Given the description of an element on the screen output the (x, y) to click on. 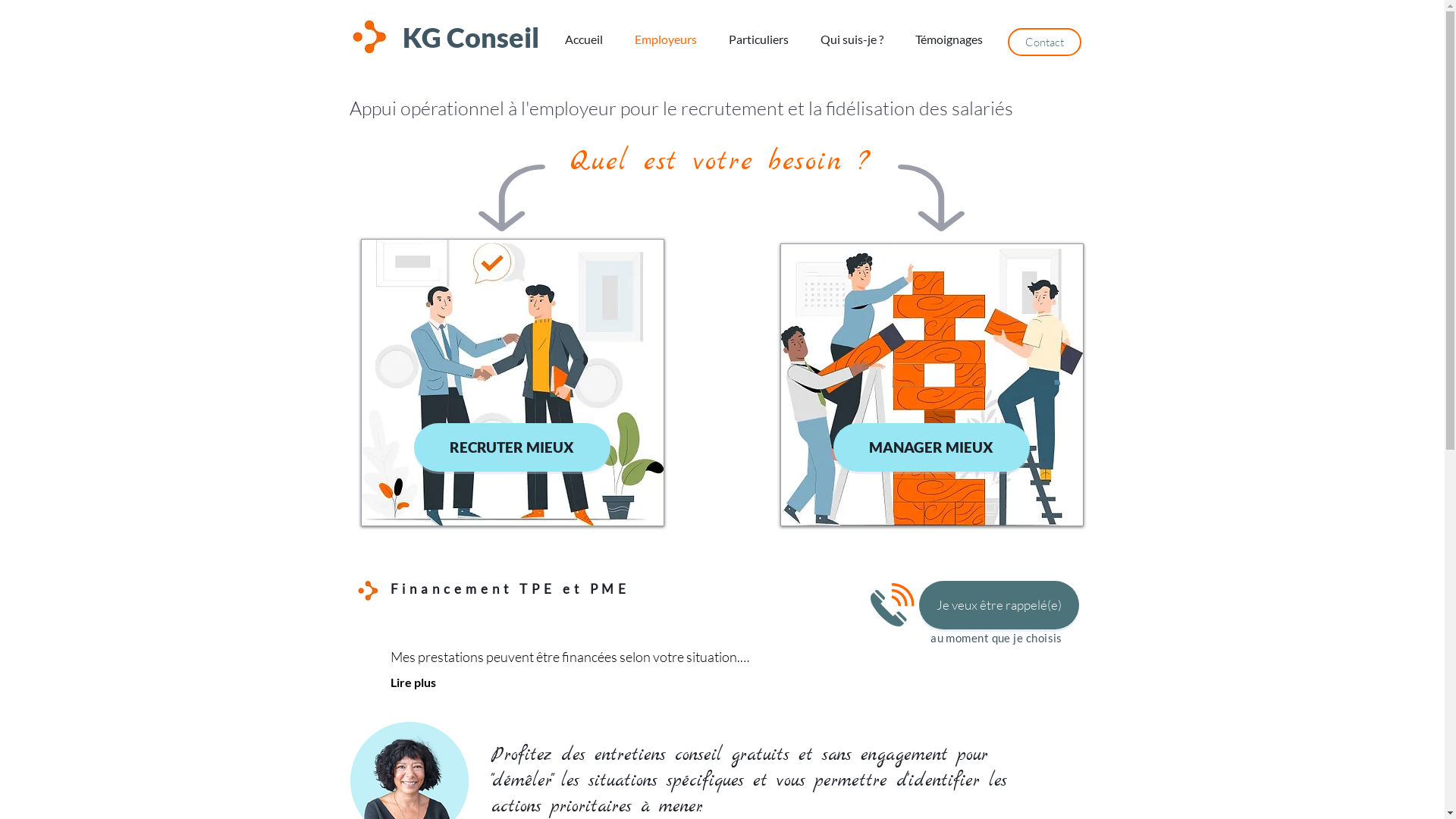
manager.jpg Element type: hover (930, 384)
KG Conseil Element type: text (469, 36)
RECRUTER MIEUX Element type: text (512, 447)
Contact Element type: text (1043, 42)
Accueil Element type: text (588, 43)
Lire plus Element type: text (412, 681)
Particuliers Element type: text (763, 43)
MANAGER MIEUX Element type: text (930, 447)
Qui suis-je ? Element type: text (855, 43)
Employeurs Element type: text (670, 43)
